Given the description of an element on the screen output the (x, y) to click on. 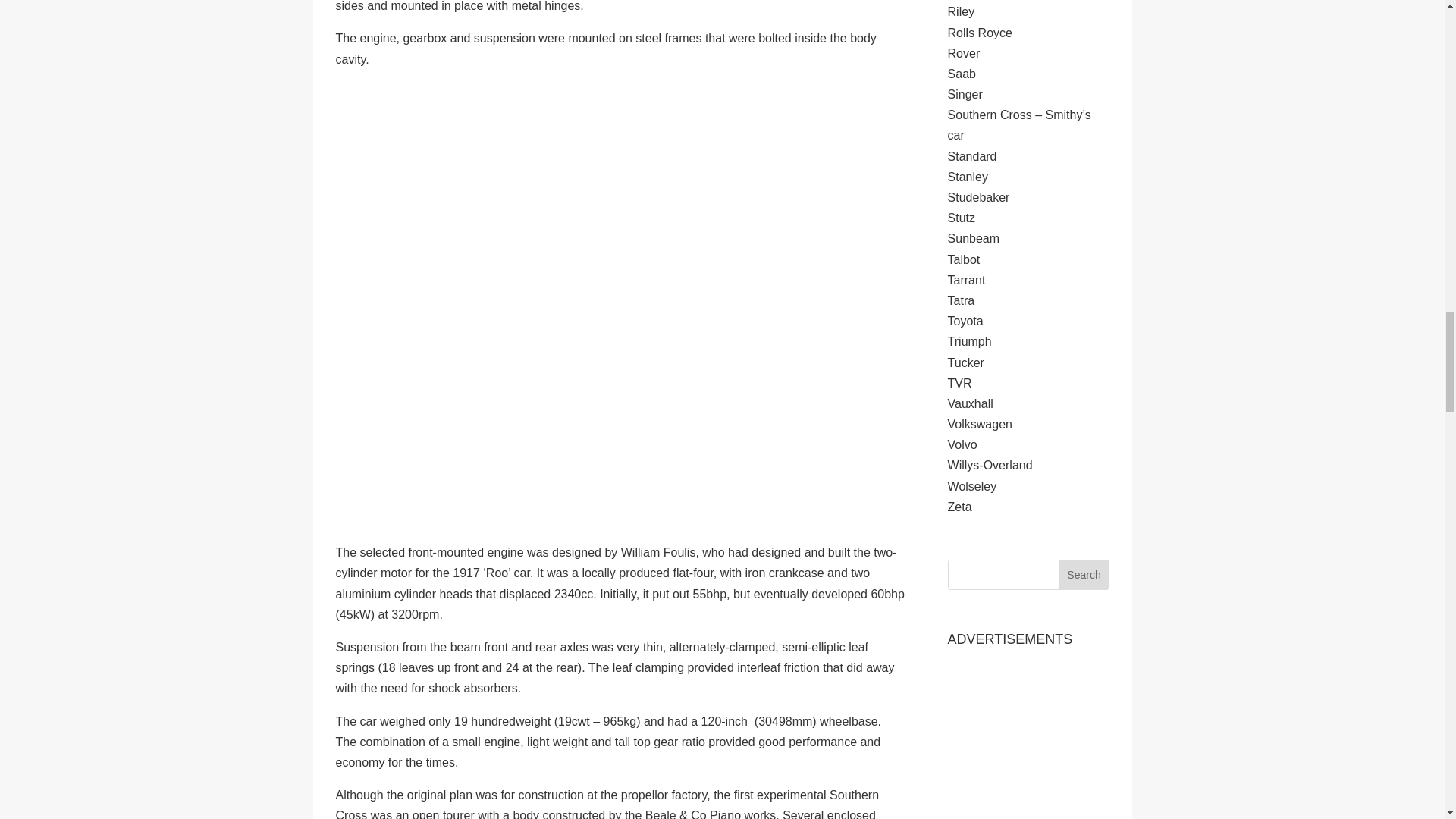
Search (1084, 574)
